Given the description of an element on the screen output the (x, y) to click on. 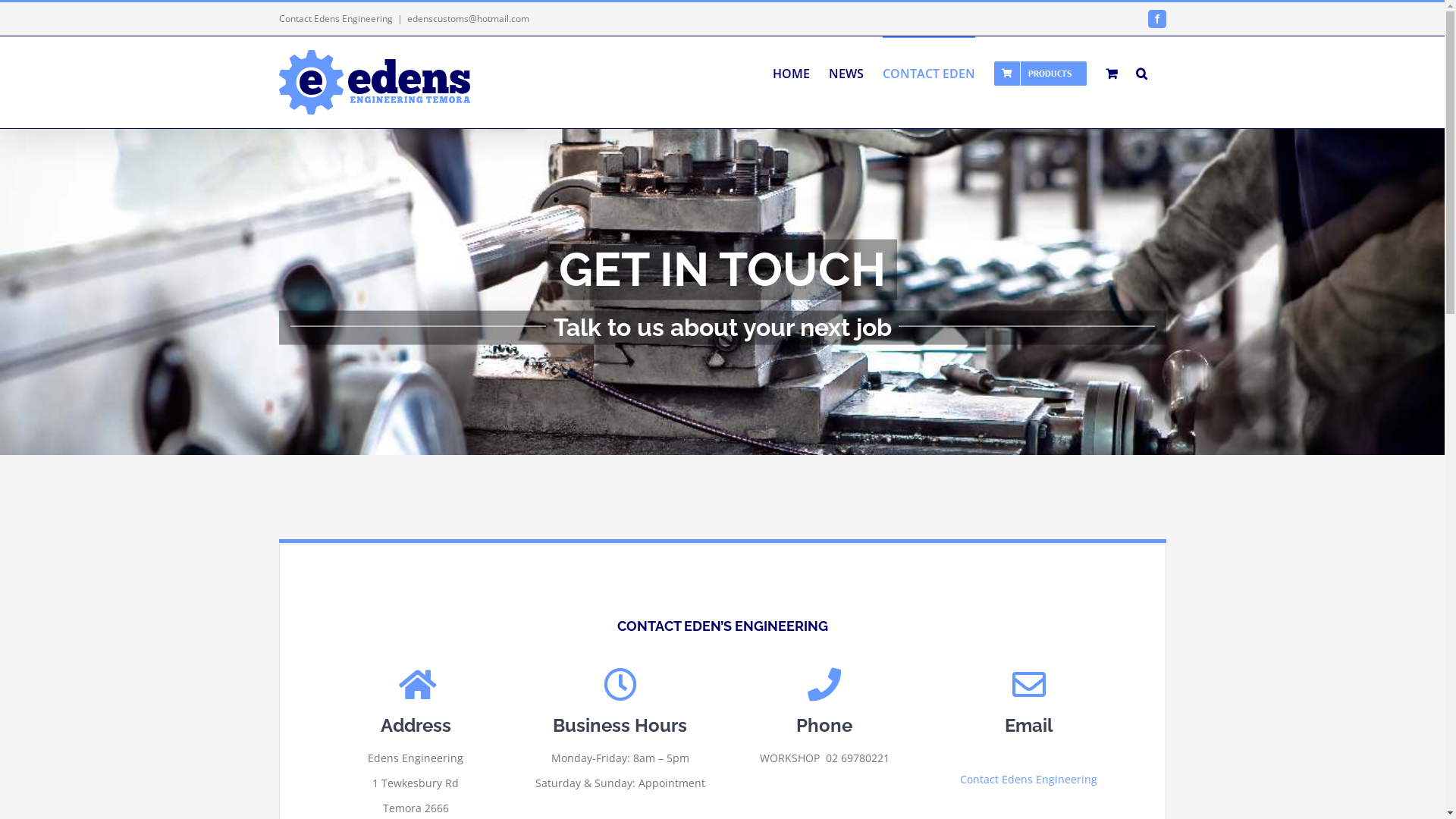
Search Element type: hover (1141, 72)
CONTACT EDEN Element type: text (928, 72)
HOME Element type: text (790, 72)
Facebook Element type: text (1157, 18)
Contact Edens Engineering Element type: text (1028, 789)
PRODUCTS Element type: text (1039, 72)
NEWS Element type: text (845, 72)
edenscustoms@hotmail.com Element type: text (467, 18)
